Given the description of an element on the screen output the (x, y) to click on. 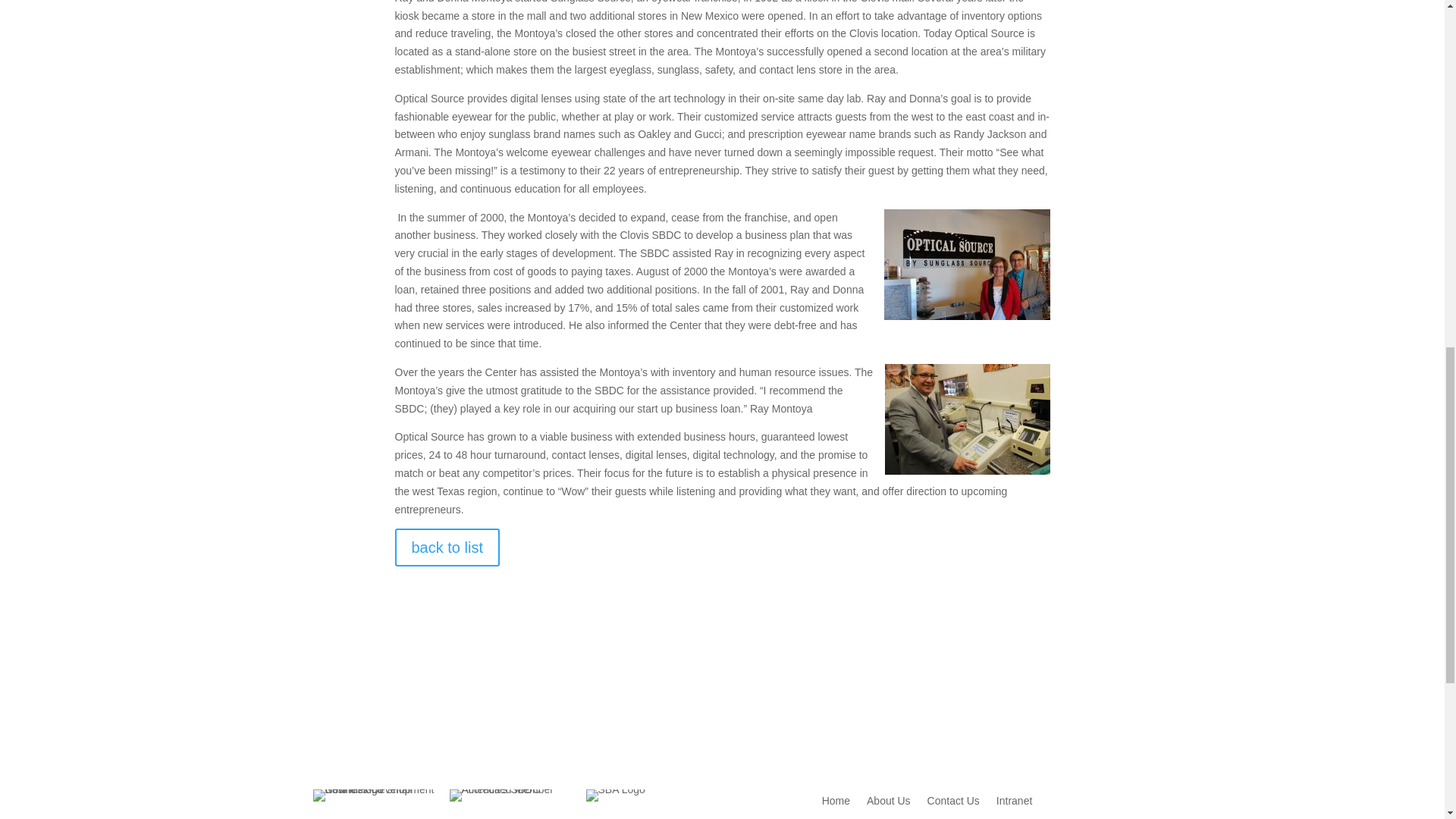
Americas-SBDC-Accredited-Member-logo (516, 795)
SBA-PoweredBy-FINAL-ai (615, 795)
New-Mexico-Small-Business-Development-Council-logo (380, 795)
